Given the description of an element on the screen output the (x, y) to click on. 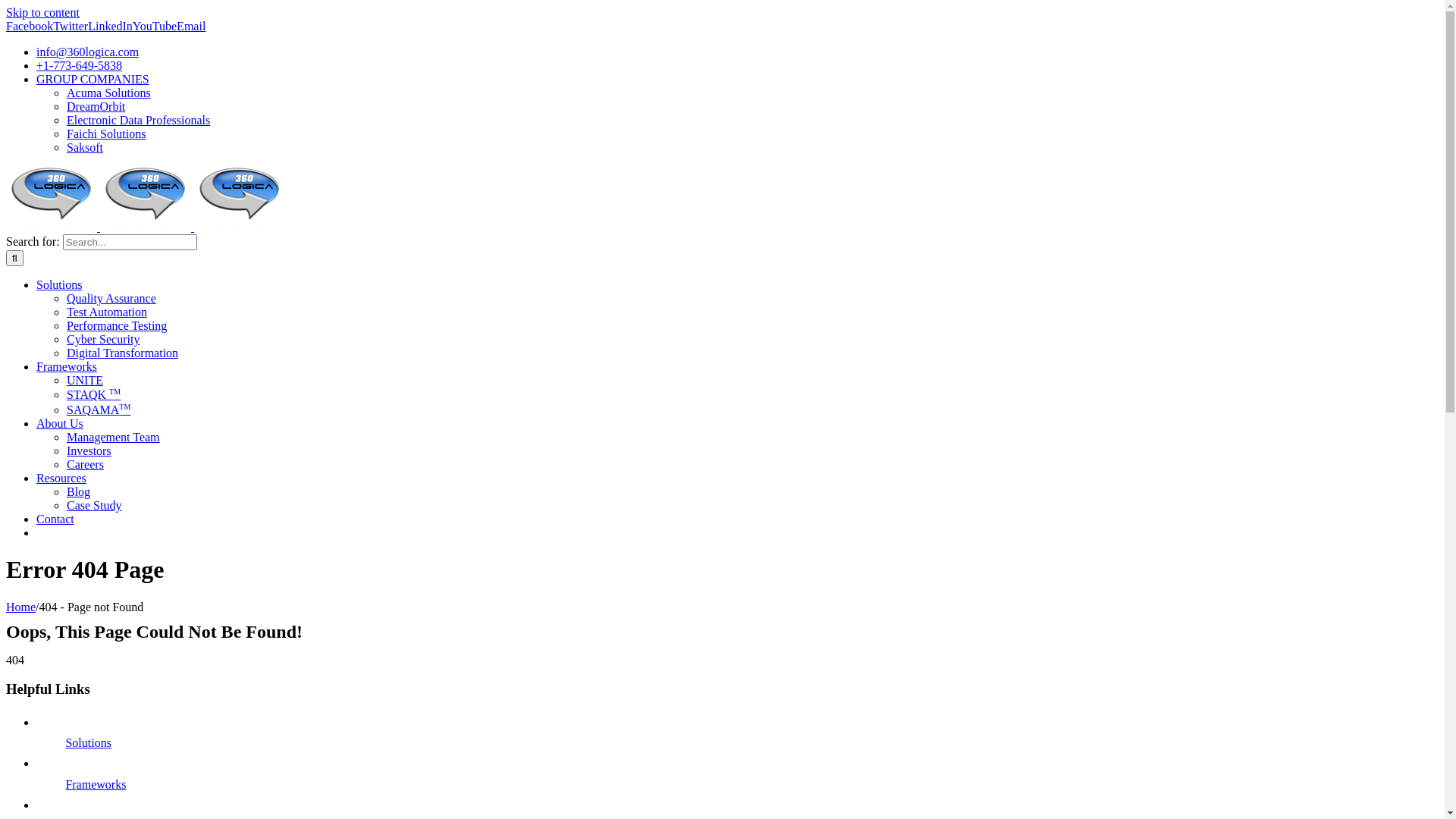
STAQK TM Element type: text (93, 394)
SAQAMATM Element type: text (98, 409)
Frameworks Element type: text (66, 366)
YouTube Element type: text (154, 25)
Email Element type: text (190, 25)
GROUP COMPANIES Element type: text (92, 78)
Twitter Element type: text (70, 25)
Resources Element type: text (61, 477)
Test Automation Element type: text (106, 311)
Faichi Solutions Element type: text (105, 133)
Acuma Solutions Element type: text (108, 92)
Careers Element type: text (84, 464)
Case Study Element type: text (93, 504)
Contact Element type: text (55, 518)
Saksoft Element type: text (84, 147)
DreamOrbit Element type: text (95, 106)
Electronic Data Professionals Element type: text (138, 119)
Quality Assurance Element type: text (111, 297)
Solutions Element type: text (58, 284)
Facebook Element type: text (29, 25)
Digital Transformation Element type: text (122, 352)
Blog Element type: text (78, 491)
Management Team Element type: text (113, 436)
Cyber Security Element type: text (102, 338)
Solutions Element type: text (87, 742)
Home Element type: text (20, 606)
Performance Testing Element type: text (116, 325)
UNITE Element type: text (84, 379)
+1-773-649-5838 Element type: text (79, 65)
Investors Element type: text (88, 450)
Skip to content Element type: text (42, 12)
Frameworks Element type: text (95, 784)
info@360logica.com Element type: text (87, 51)
LinkedIn Element type: text (109, 25)
About Us Element type: text (59, 423)
